Given the description of an element on the screen output the (x, y) to click on. 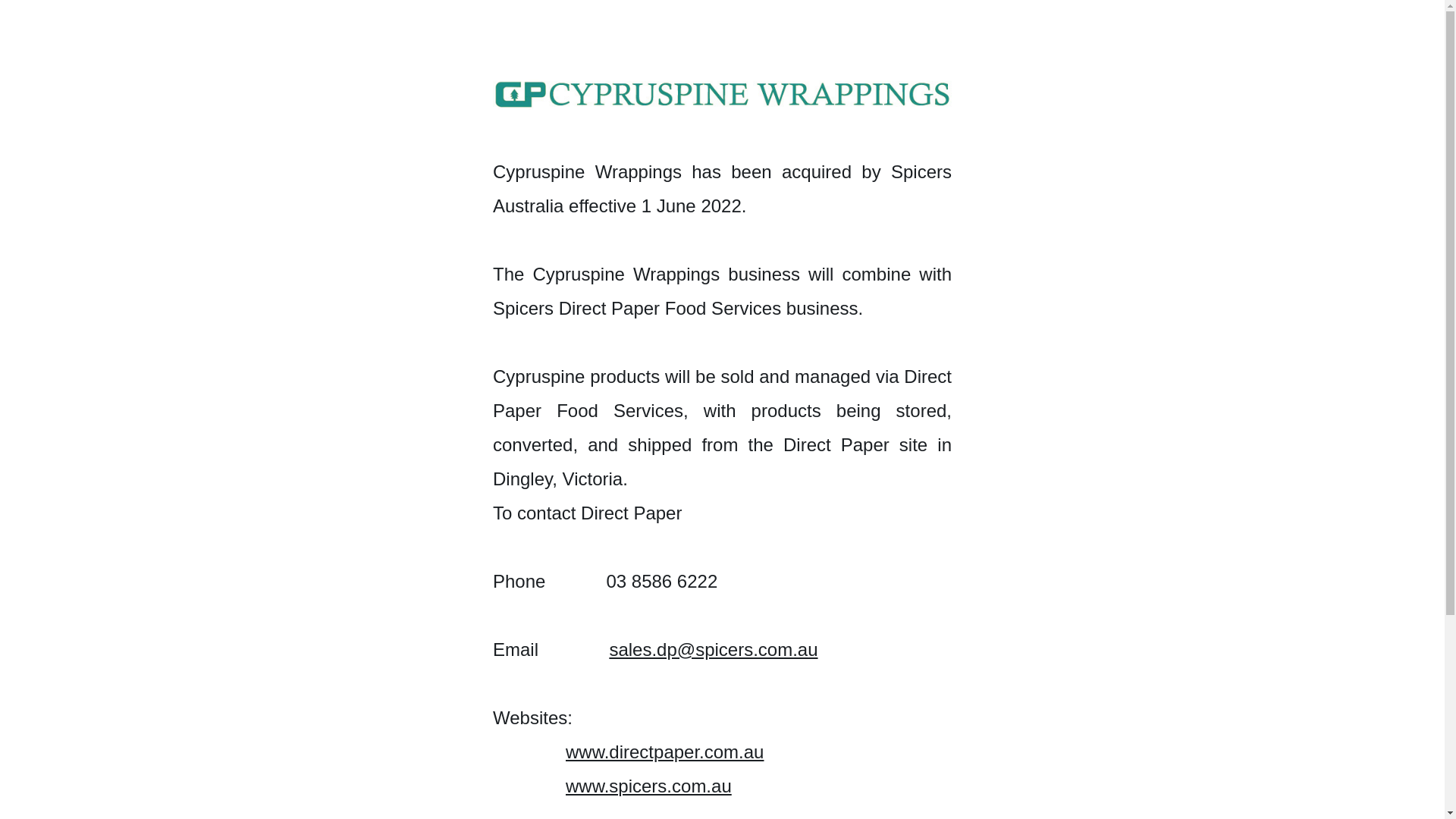
www.directpaper.com.au Element type: text (664, 751)
sales.dp@spicers.com.au Element type: text (712, 649)
www.spicers.com.au Element type: text (648, 785)
